Given the description of an element on the screen output the (x, y) to click on. 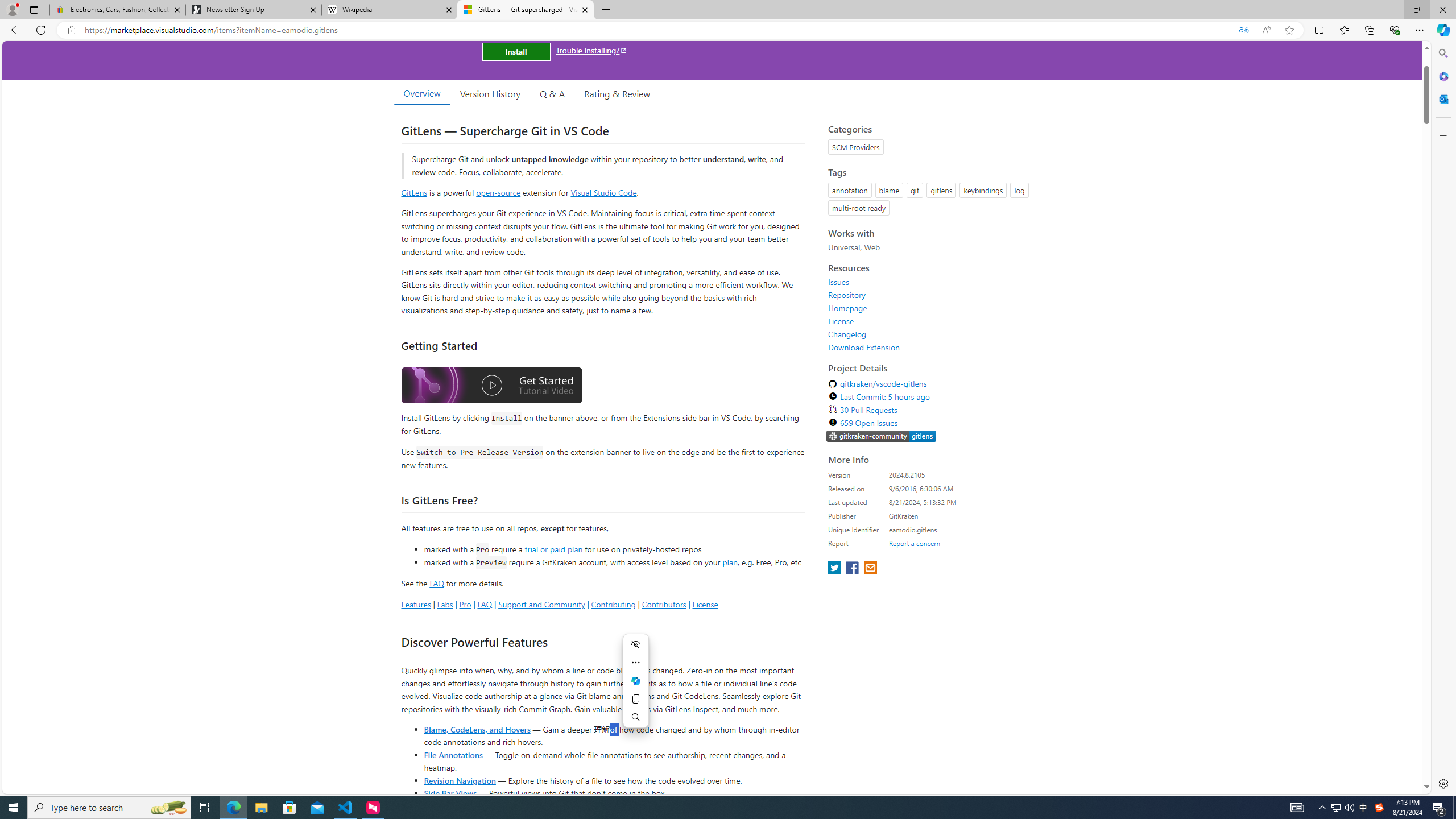
Rating & Review (618, 92)
Copy (635, 698)
Install (515, 51)
Hide menu (635, 644)
More actions (635, 662)
Ask Copilot (635, 680)
